Given the description of an element on the screen output the (x, y) to click on. 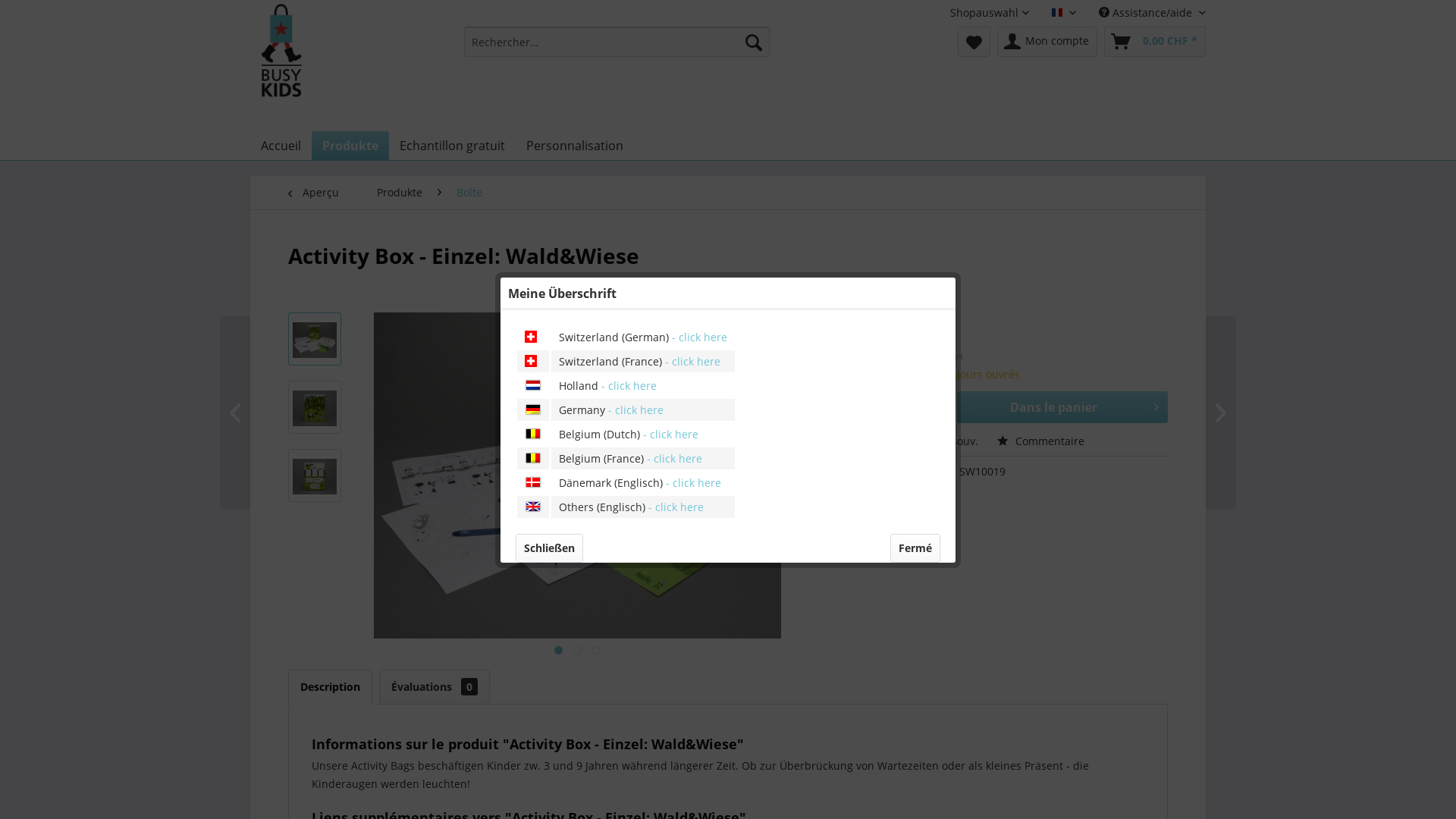
Echantillon gratuit Element type: text (452, 145)
- click here Element type: text (634, 408)
- click here Element type: text (697, 336)
Produkte Element type: text (350, 145)
Se souv. Element type: text (948, 440)
Activity Box - Einzel: See Element type: hover (1145, 412)
  Element type: text (577, 650)
Mon compte Element type: text (1047, 41)
- click here Element type: text (672, 457)
- click here Element type: text (627, 384)
  Element type: text (558, 650)
- click here Element type: text (691, 360)
0,00 CHF * Element type: text (1154, 41)
Commentaire Element type: text (1040, 440)
Produkte Element type: text (399, 192)
plus frais de port Element type: text (927, 355)
Comparer Element type: text (866, 440)
Description Element type: text (330, 686)
- click here Element type: text (674, 505)
Activity Box - Einzel: Zoo Element type: hover (310, 412)
Dans le panier Element type: text (1062, 407)
- click here Element type: text (670, 433)
- click here Element type: text (691, 481)
Personnalisation Element type: text (574, 145)
  Element type: text (596, 650)
Accueil Element type: text (280, 145)
